Given the description of an element on the screen output the (x, y) to click on. 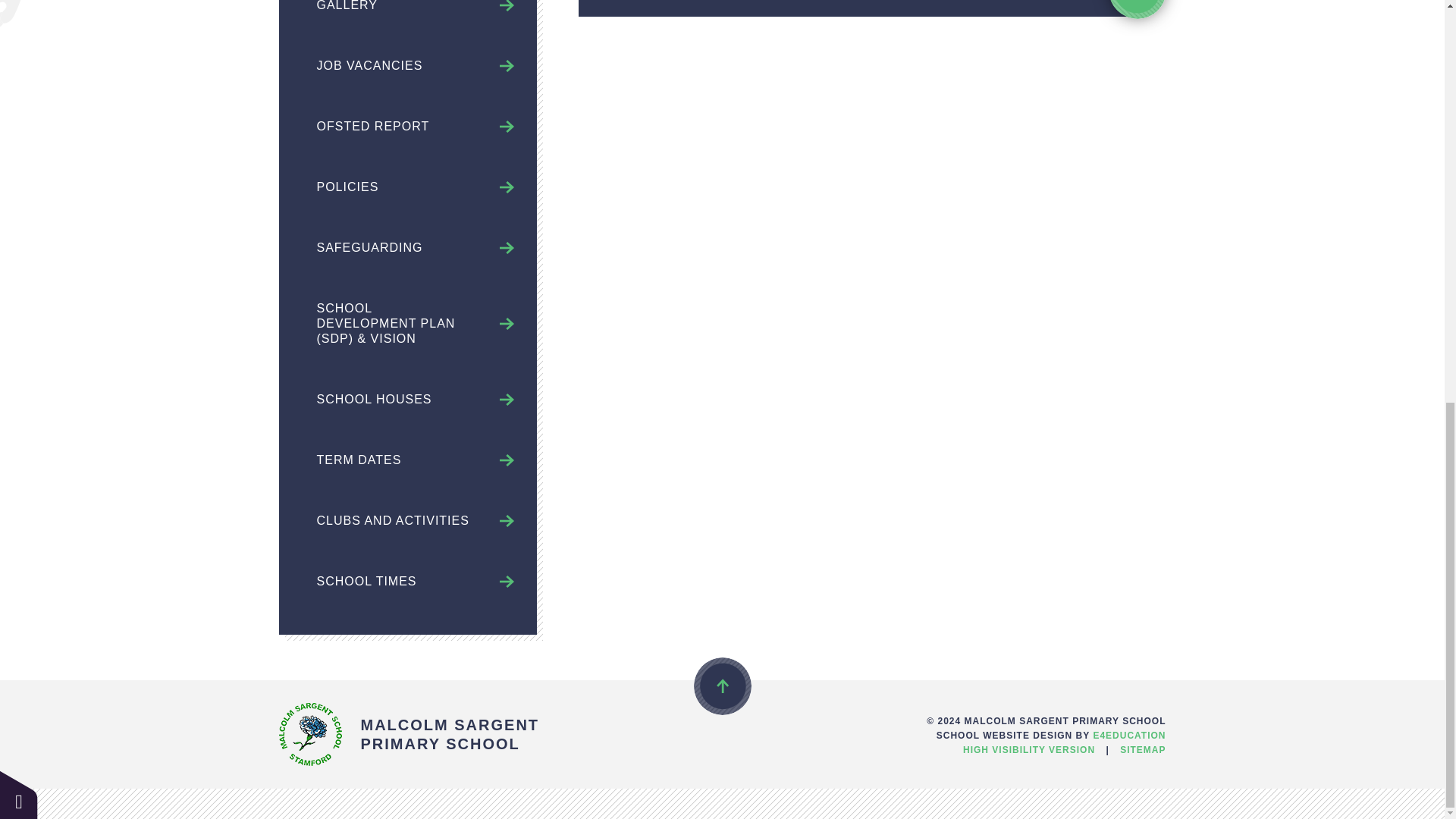
Scroll to Top (722, 685)
Cookie Settings (18, 13)
